Given the description of an element on the screen output the (x, y) to click on. 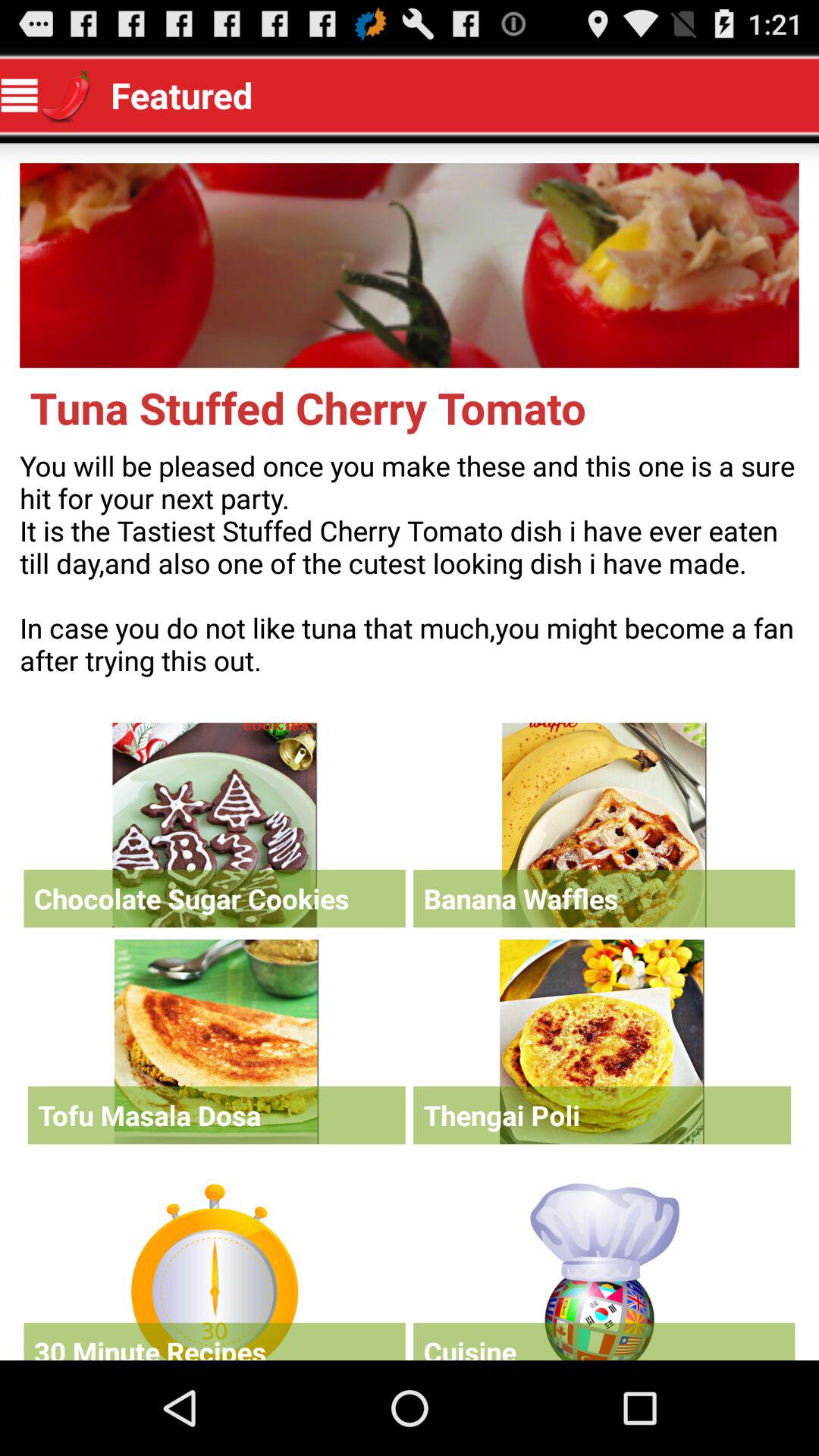
click banana waffles (604, 824)
